Given the description of an element on the screen output the (x, y) to click on. 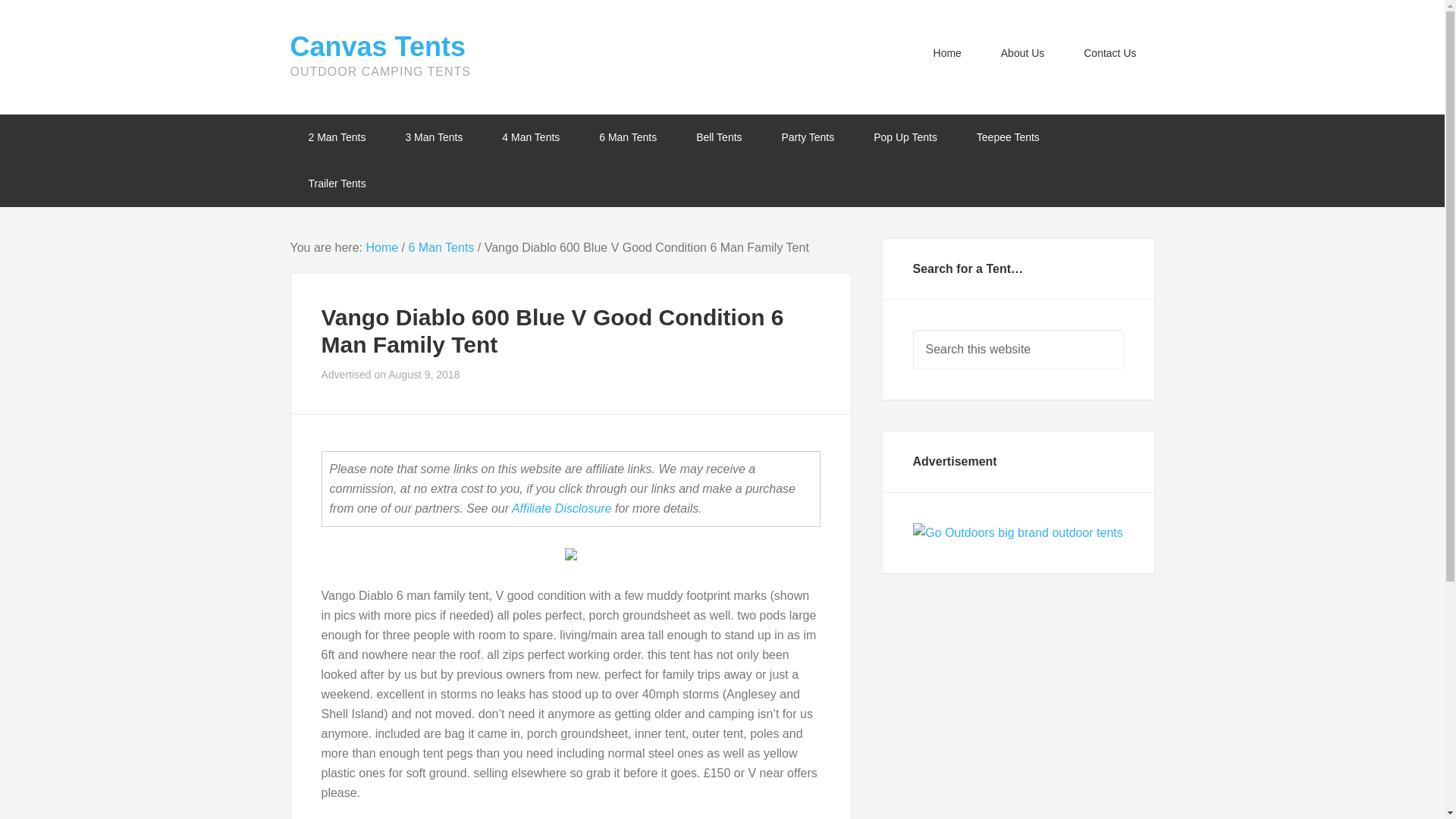
Home (381, 246)
Link to Affiliate Disclosure (561, 508)
6 Man Tents (627, 137)
2 Man Tents (336, 137)
Canvas Tents (376, 46)
Trailer Tents (336, 183)
Bell Tents (719, 137)
Party Tents (806, 137)
Contact Us (1109, 53)
Teepee Tents (1008, 137)
Pop Up Tents (905, 137)
4 Man Tents (530, 137)
